Given the description of an element on the screen output the (x, y) to click on. 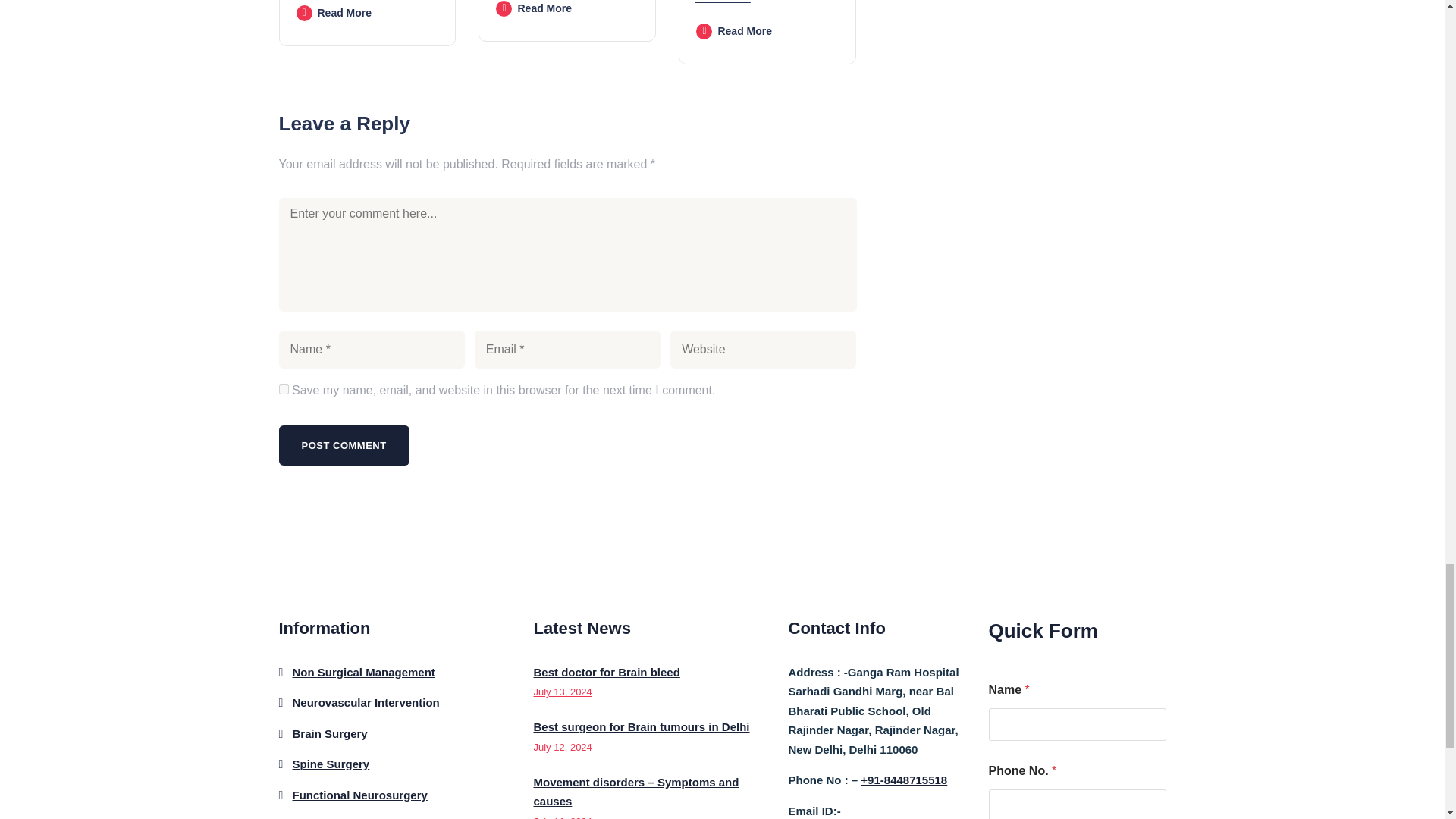
Post Comment (344, 445)
Read More (332, 11)
Read More (533, 7)
yes (283, 388)
